Given the description of an element on the screen output the (x, y) to click on. 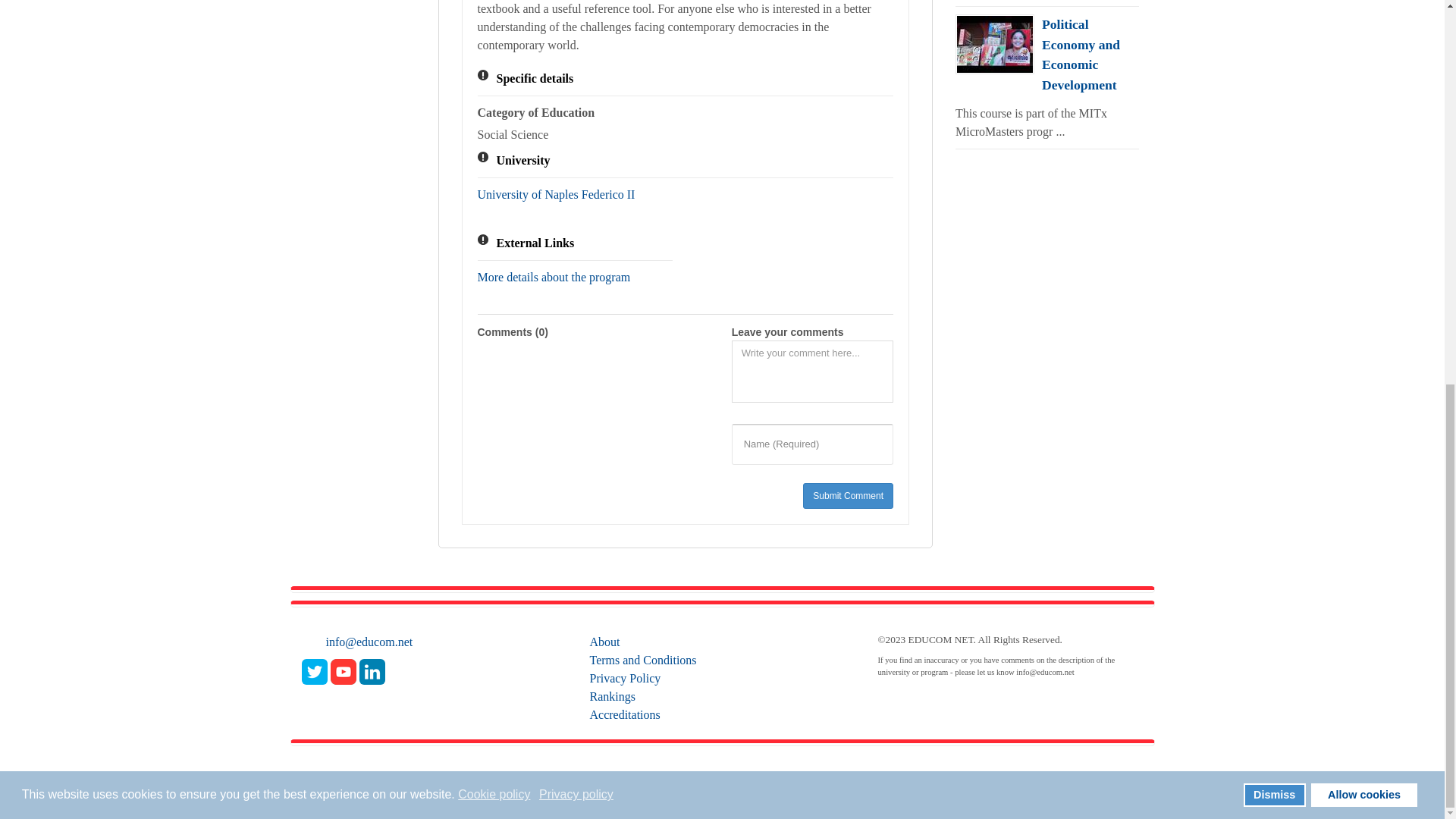
University of Naples Federico II (555, 194)
Allow cookies (1363, 73)
More details about the program (553, 277)
LinkedIn (371, 671)
Twitter (313, 671)
Cookie policy (495, 73)
edx-political-economy-and-economic-development-14391 (994, 44)
Youtube (342, 671)
Privacy policy (576, 73)
